Given the description of an element on the screen output the (x, y) to click on. 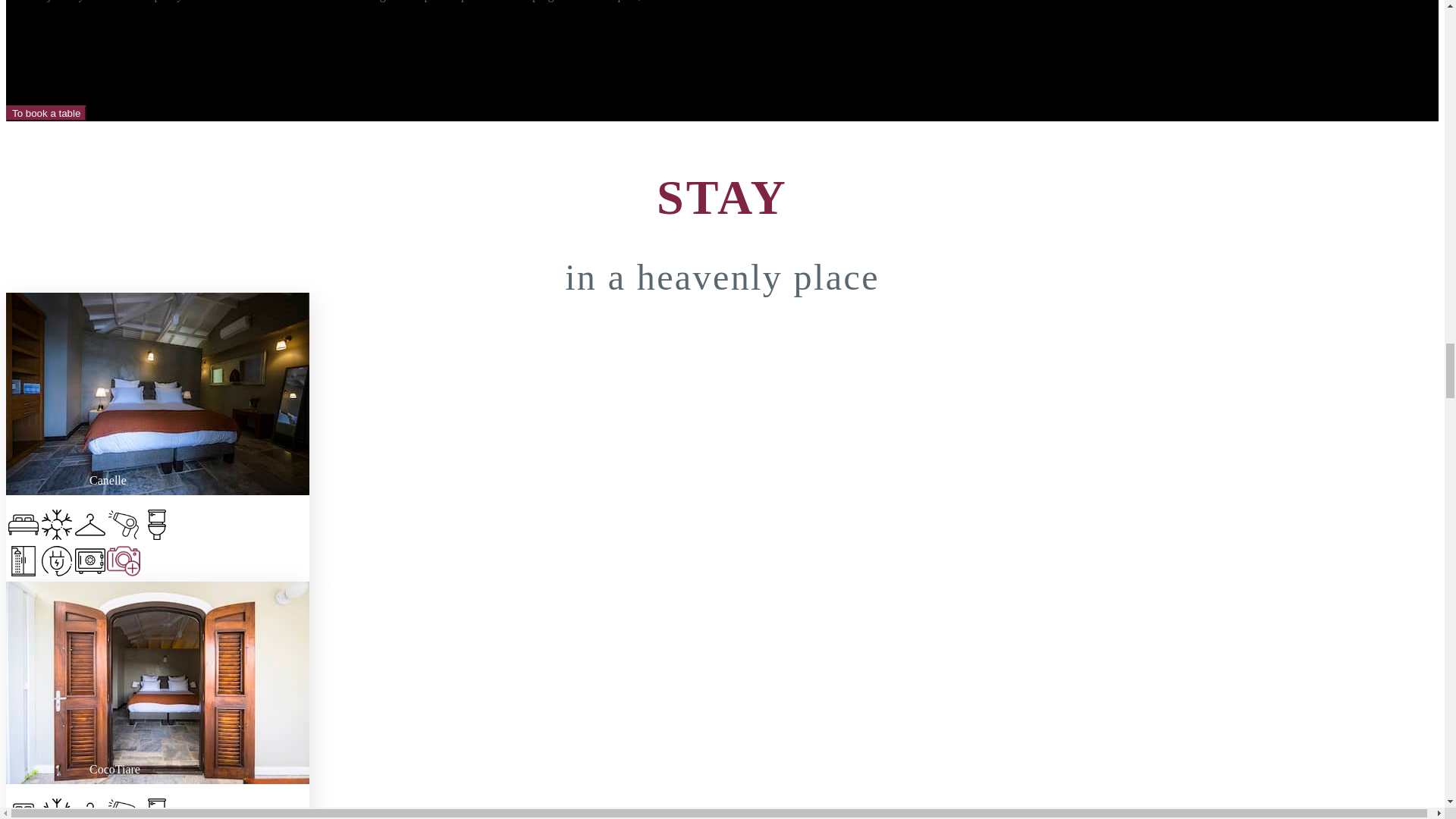
To book a table (45, 113)
King size (23, 525)
Shower (23, 562)
King size (23, 808)
